Given the description of an element on the screen output the (x, y) to click on. 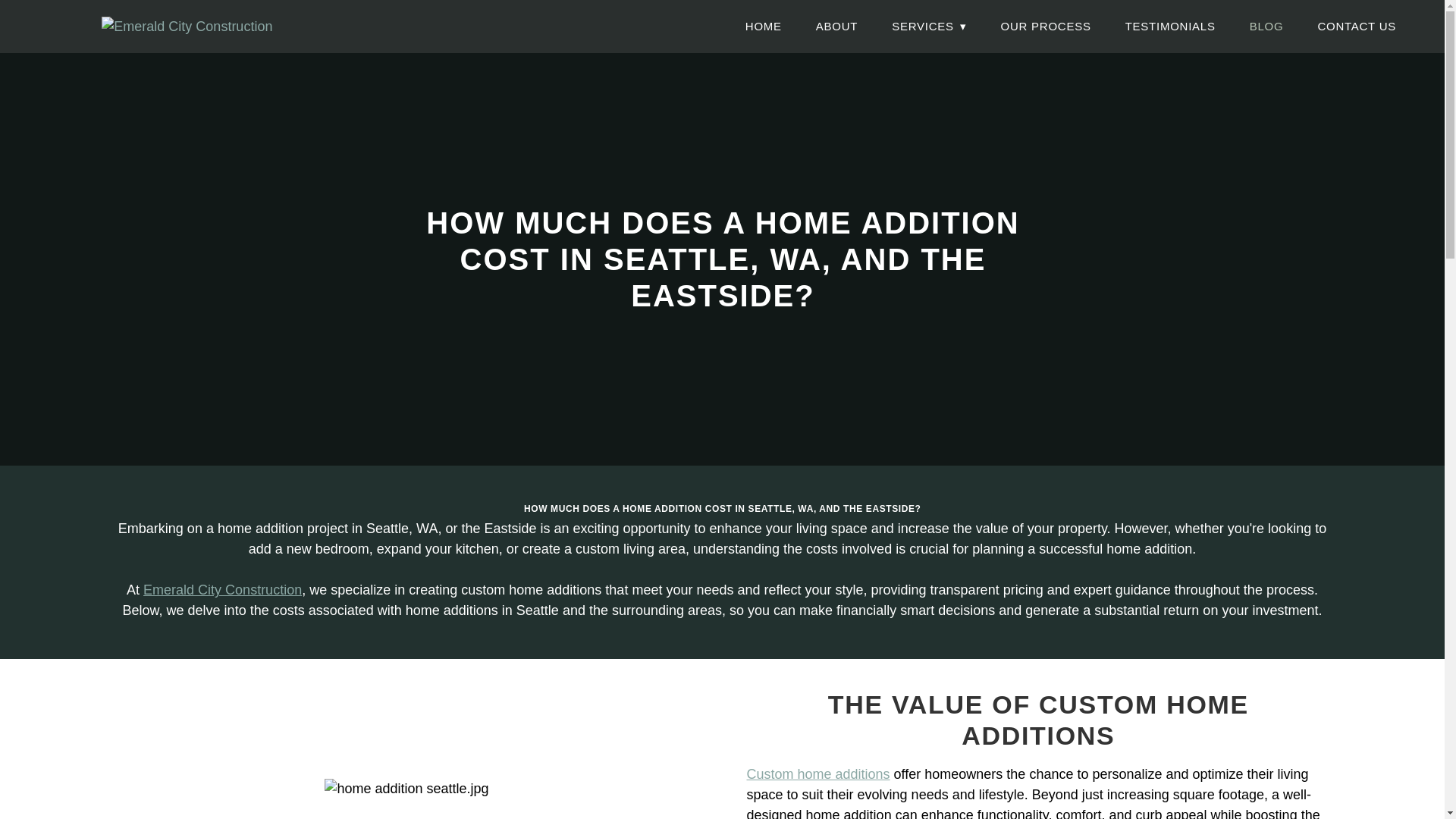
CONTACT US (1356, 26)
ABOUT (836, 26)
BLOG (1266, 26)
TESTIMONIALS (1170, 26)
OUR PROCESS (1045, 26)
Emerald City Construction (193, 26)
Emerald City Construction (221, 589)
Custom home additions (817, 774)
HOME (763, 26)
